Given the description of an element on the screen output the (x, y) to click on. 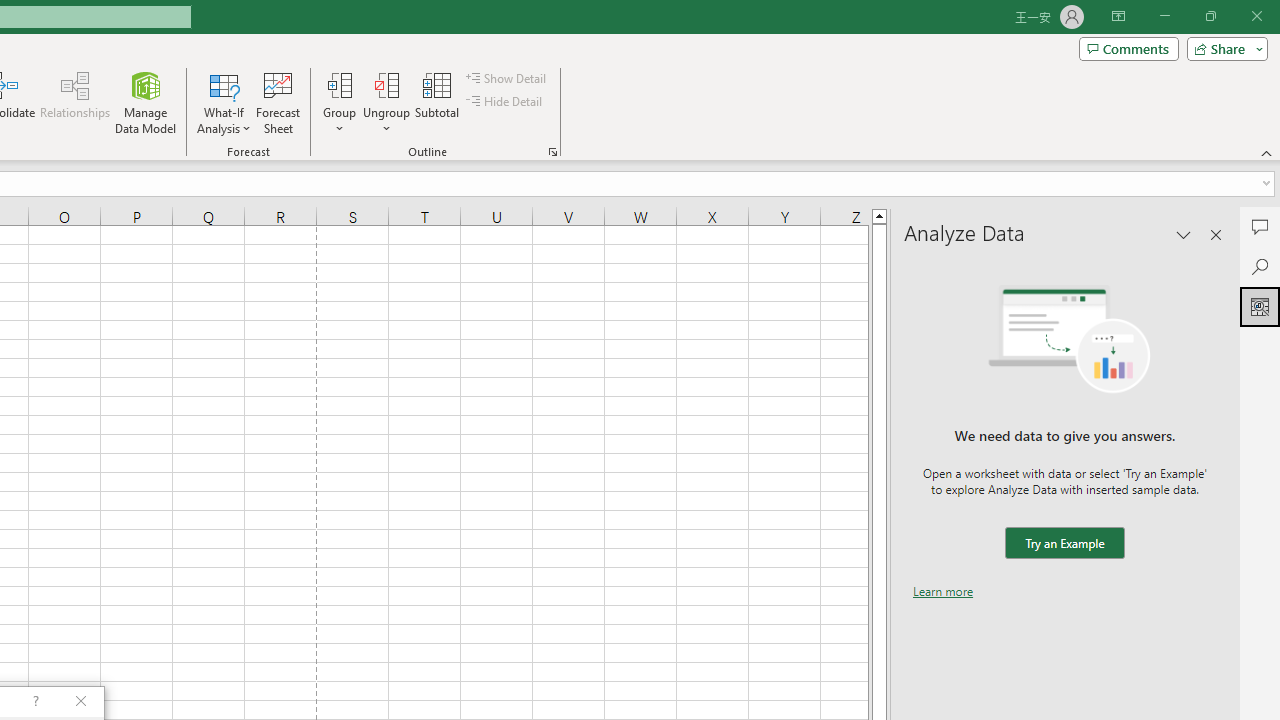
We need data to give you answers. Try an Example (1064, 543)
Task Pane Options (1183, 234)
Group... (339, 84)
Subtotal (437, 102)
Forecast Sheet (278, 102)
Ungroup... (386, 84)
Relationships (75, 102)
Close pane (1215, 234)
Hide Detail (505, 101)
